Given the description of an element on the screen output the (x, y) to click on. 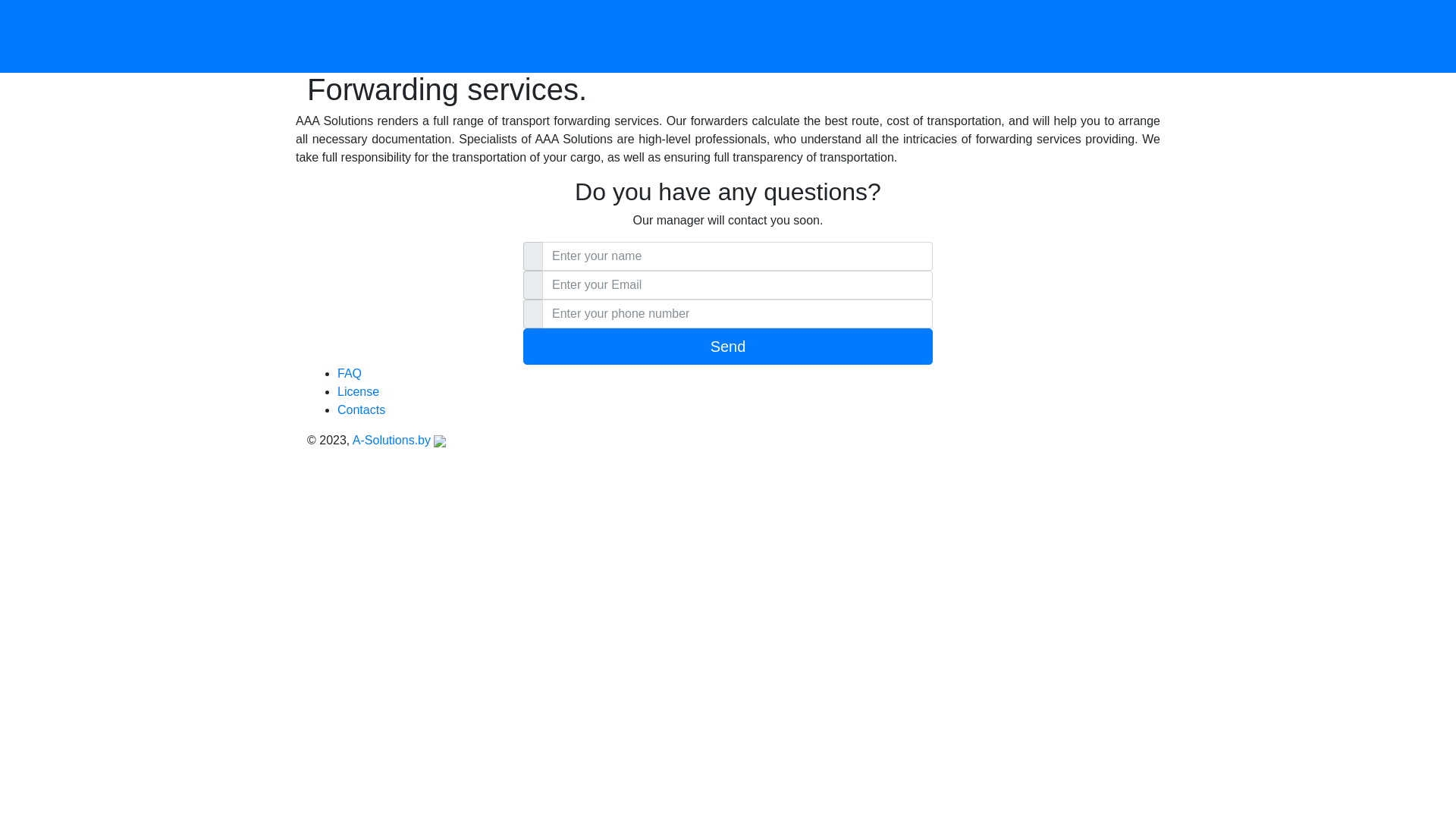
Services Element type: text (937, 36)
A-Solutions.by Element type: text (399, 439)
License Element type: text (358, 391)
Lang Element type: text (1128, 36)
Home Element type: text (886, 27)
Contacts Element type: text (361, 409)
Contacts Element type: text (1055, 27)
Partners Element type: text (996, 27)
FAQ Element type: text (349, 373)
Send Element type: text (727, 346)
